Given the description of an element on the screen output the (x, y) to click on. 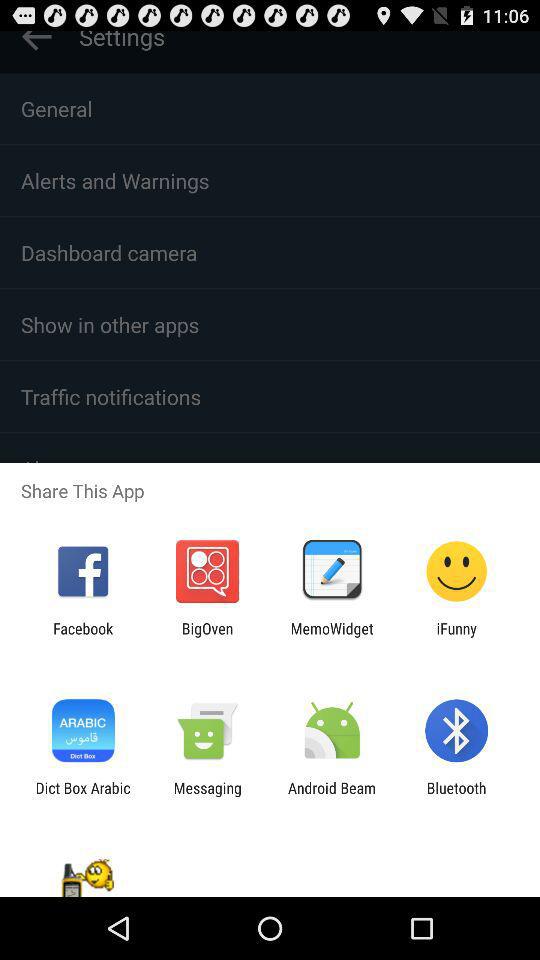
turn on the icon to the left of the ifunny (331, 637)
